Given the description of an element on the screen output the (x, y) to click on. 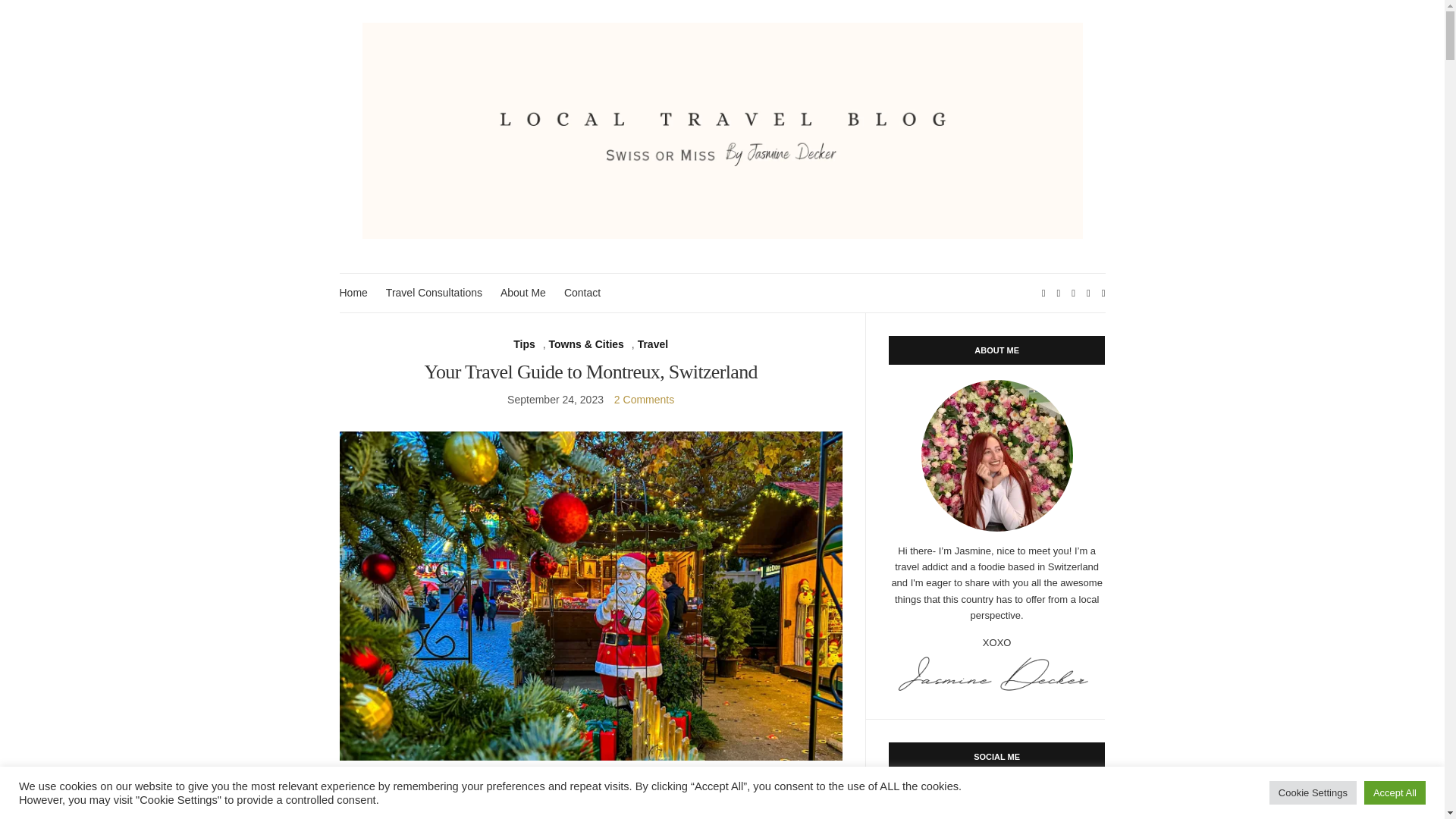
Tips (524, 343)
Travel (652, 343)
Travel Consultations (433, 293)
Contact (581, 293)
About Me (523, 293)
2 Comments (644, 399)
Home (353, 293)
